Given the description of an element on the screen output the (x, y) to click on. 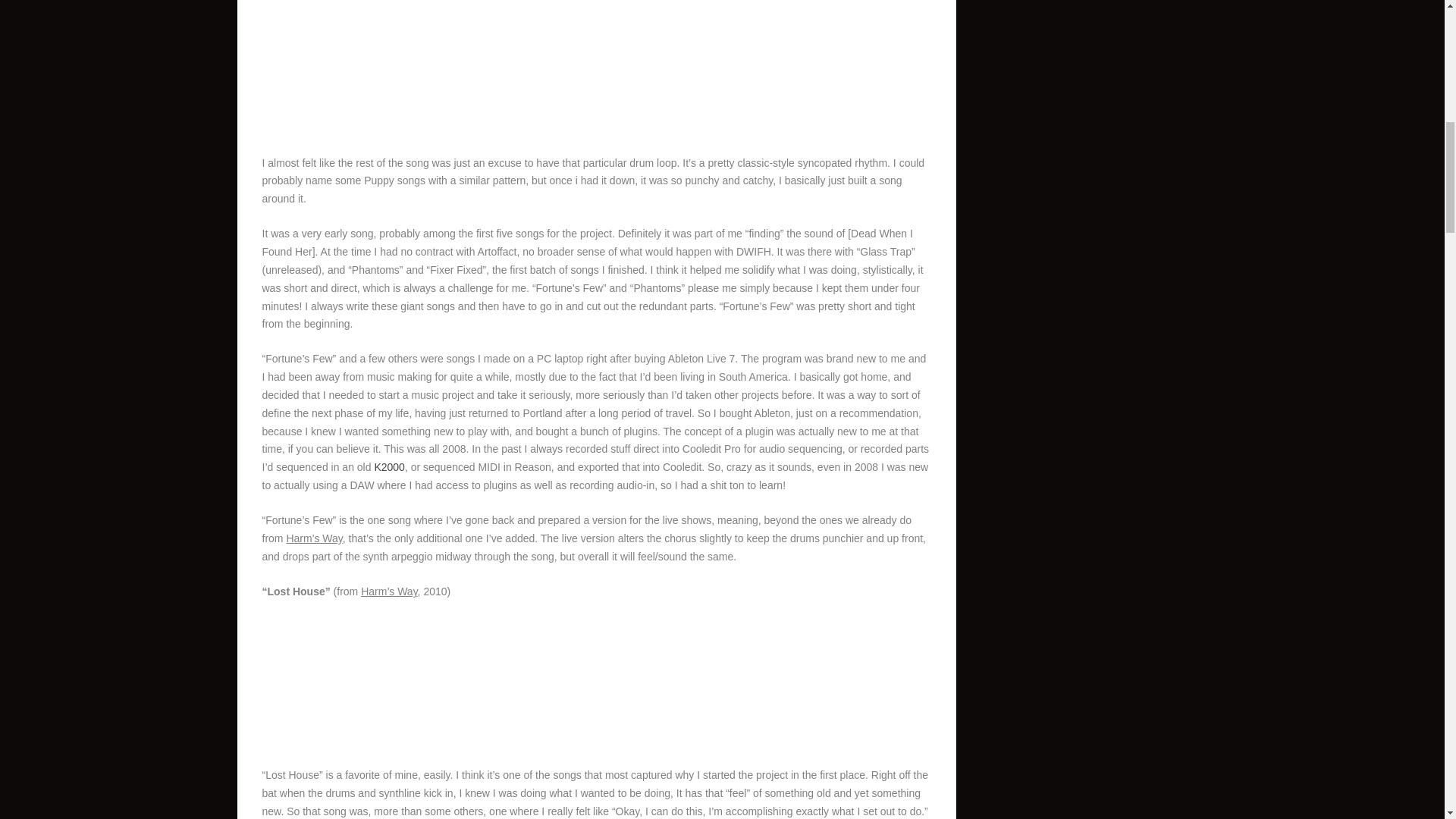
K2000 (389, 467)
